Given the description of an element on the screen output the (x, y) to click on. 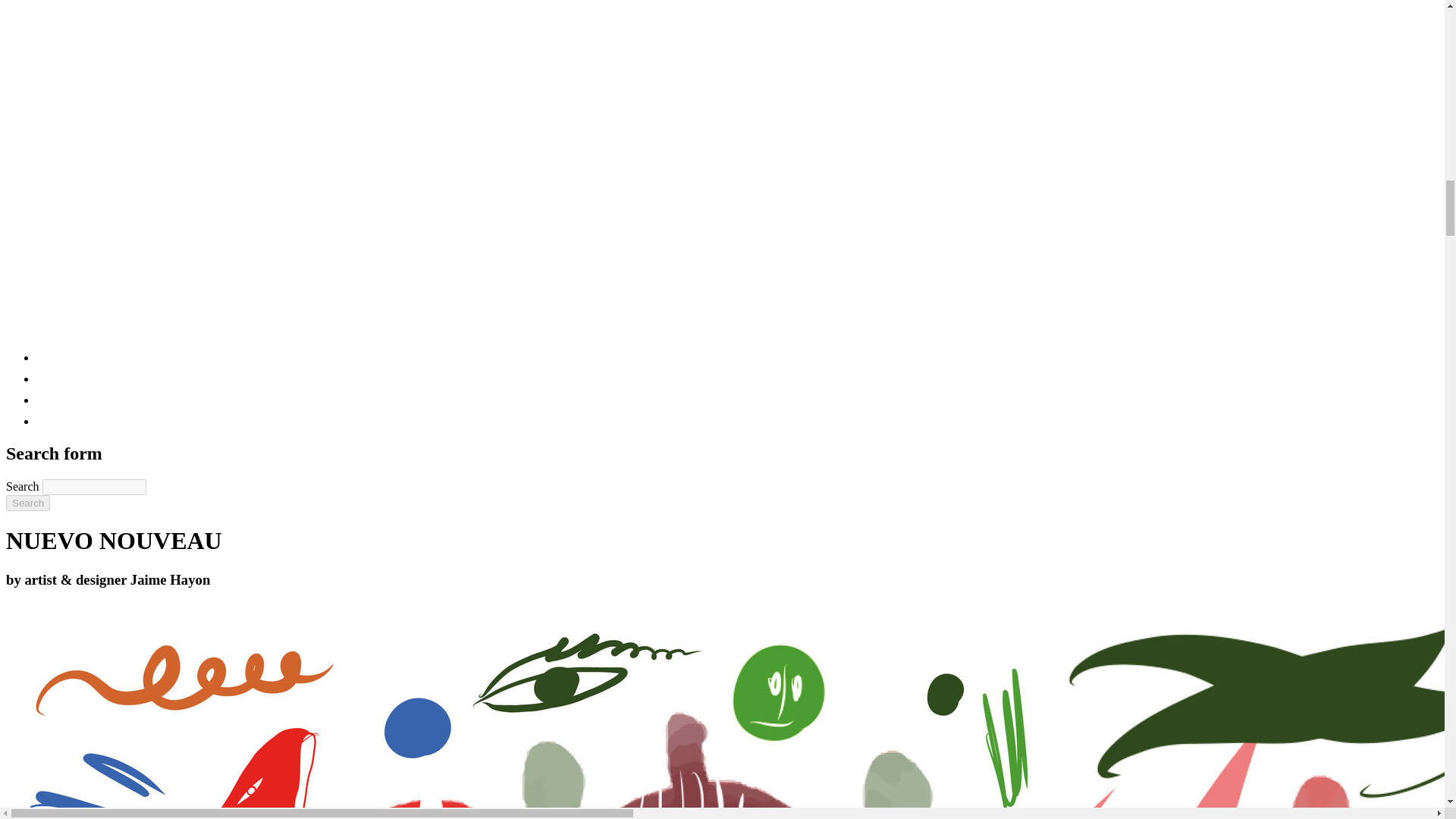
Enter the terms you wish to search for. (94, 487)
Search (27, 503)
